Given the description of an element on the screen output the (x, y) to click on. 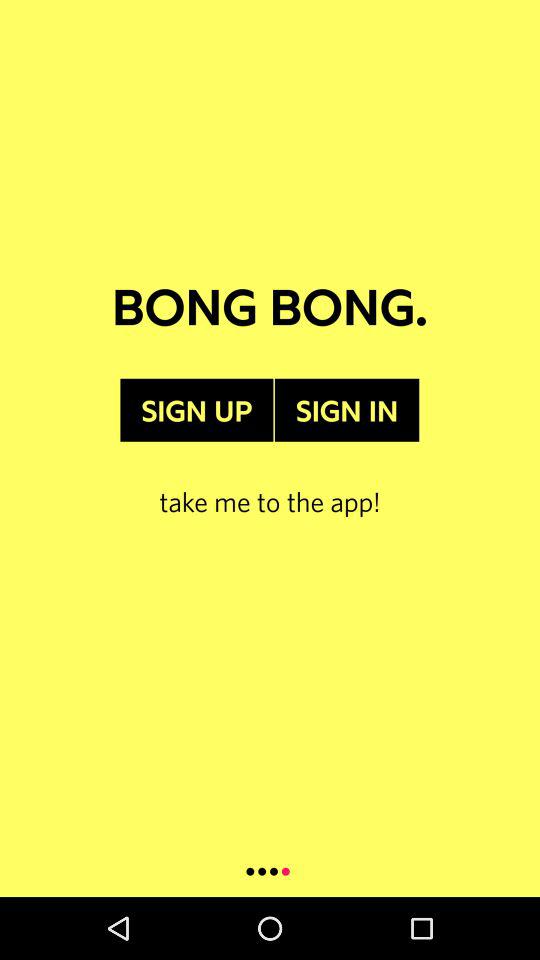
scroll until the sign up item (196, 409)
